Given the description of an element on the screen output the (x, y) to click on. 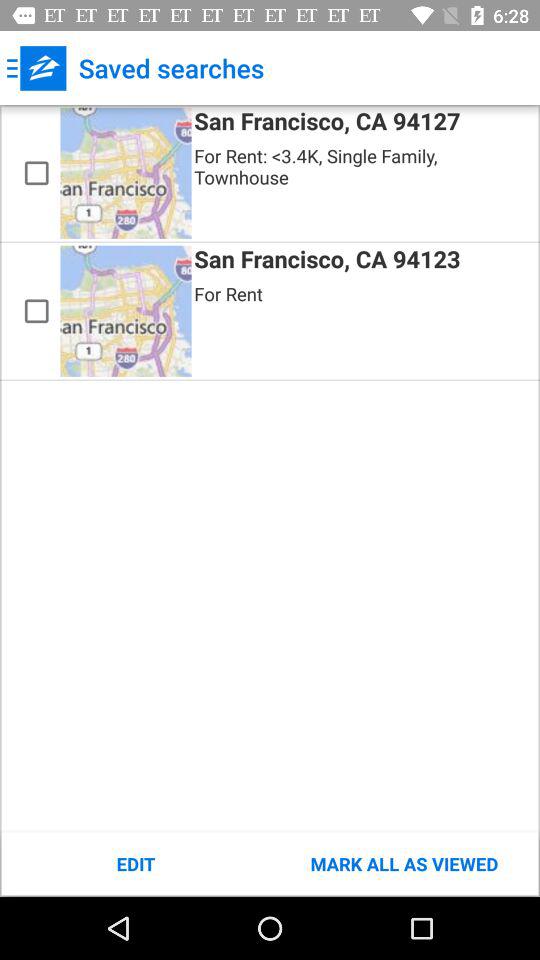
launch mark all as icon (404, 863)
